Given the description of an element on the screen output the (x, y) to click on. 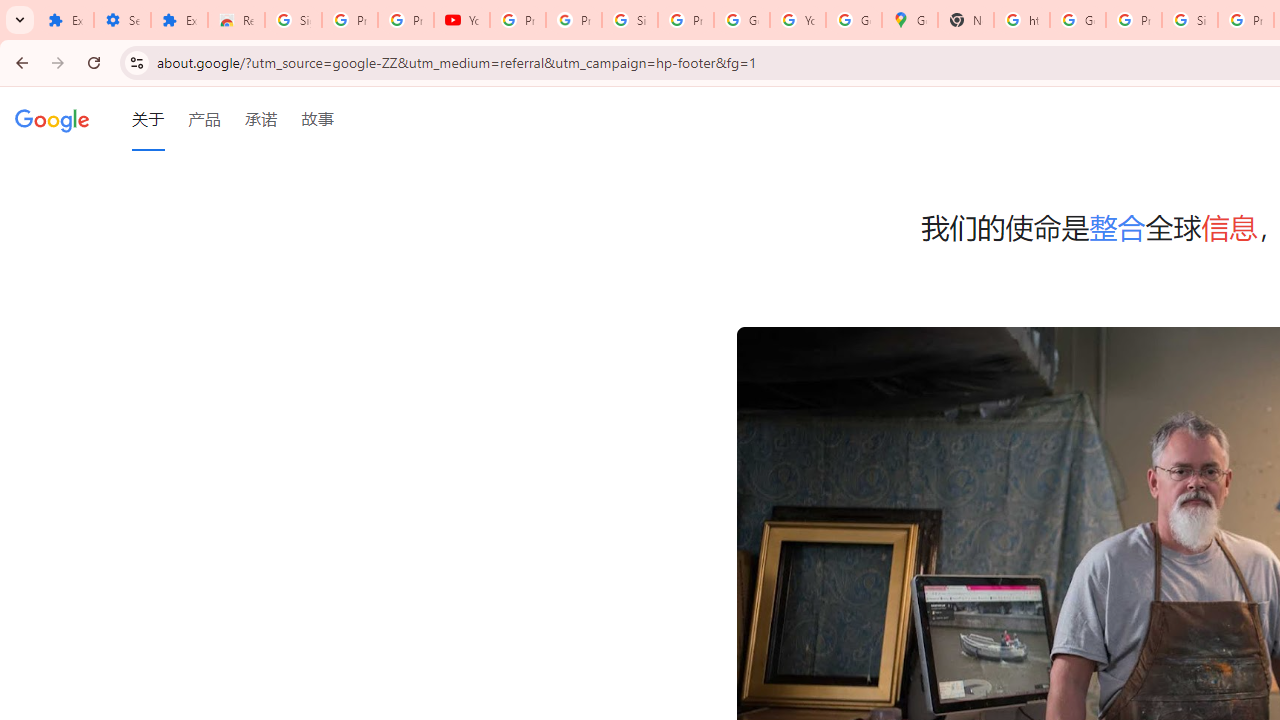
Google Maps (909, 20)
New Tab (966, 20)
Extensions (179, 20)
